Given the description of an element on the screen output the (x, y) to click on. 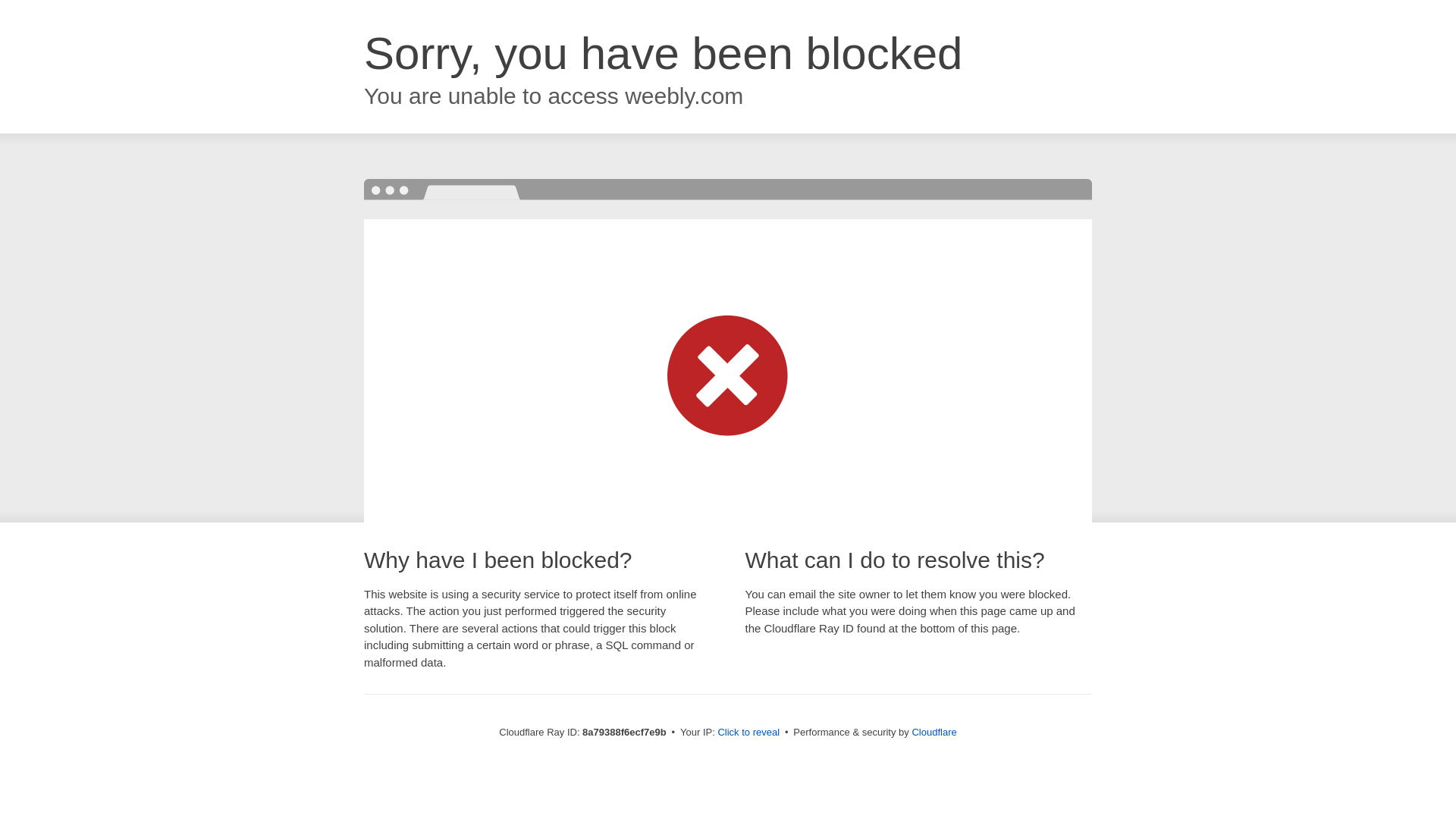
Click to reveal (747, 732)
Cloudflare (933, 731)
